Given the description of an element on the screen output the (x, y) to click on. 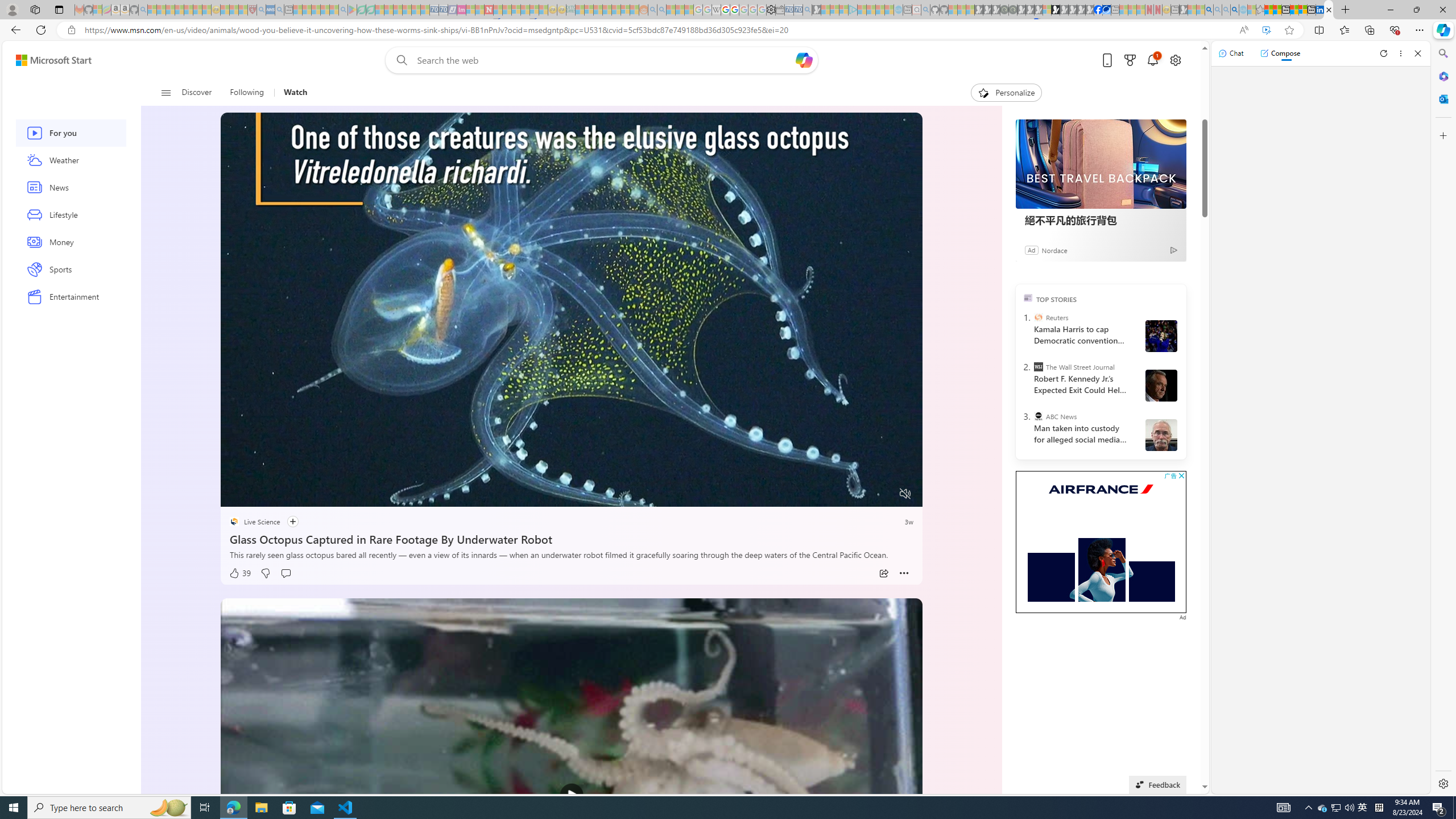
AutomationID: cbb (1181, 475)
MSNBC - MSN - Sleeping (579, 9)
Watch (295, 92)
